Given the description of an element on the screen output the (x, y) to click on. 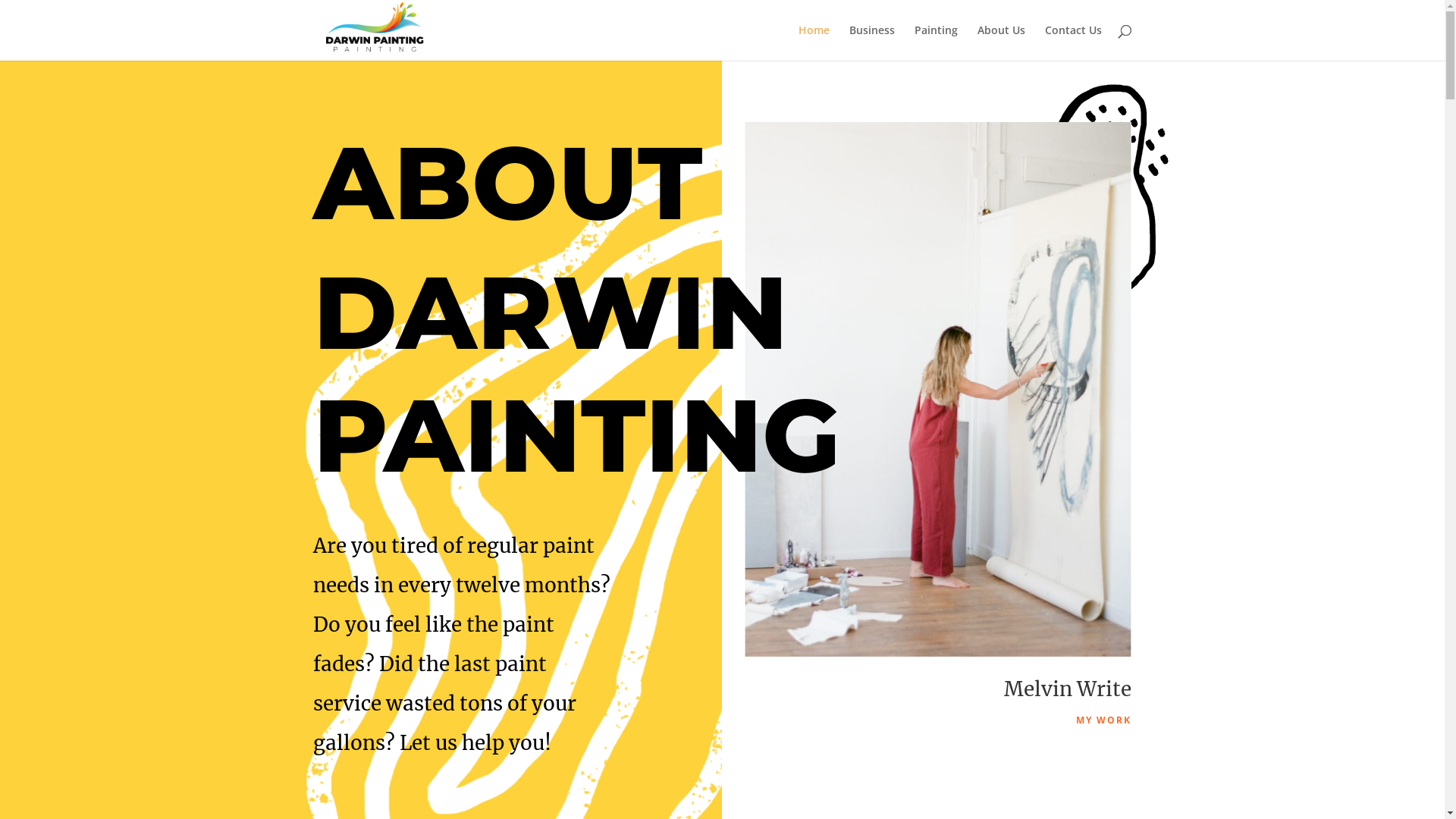
Painting Element type: text (935, 42)
Painter-artist-66 Element type: hover (937, 389)
Home Element type: text (812, 42)
About Us Element type: text (1000, 42)
Business Element type: text (871, 42)
MY WORK Element type: text (1103, 720)
Contact Us Element type: text (1072, 42)
